Given the description of an element on the screen output the (x, y) to click on. 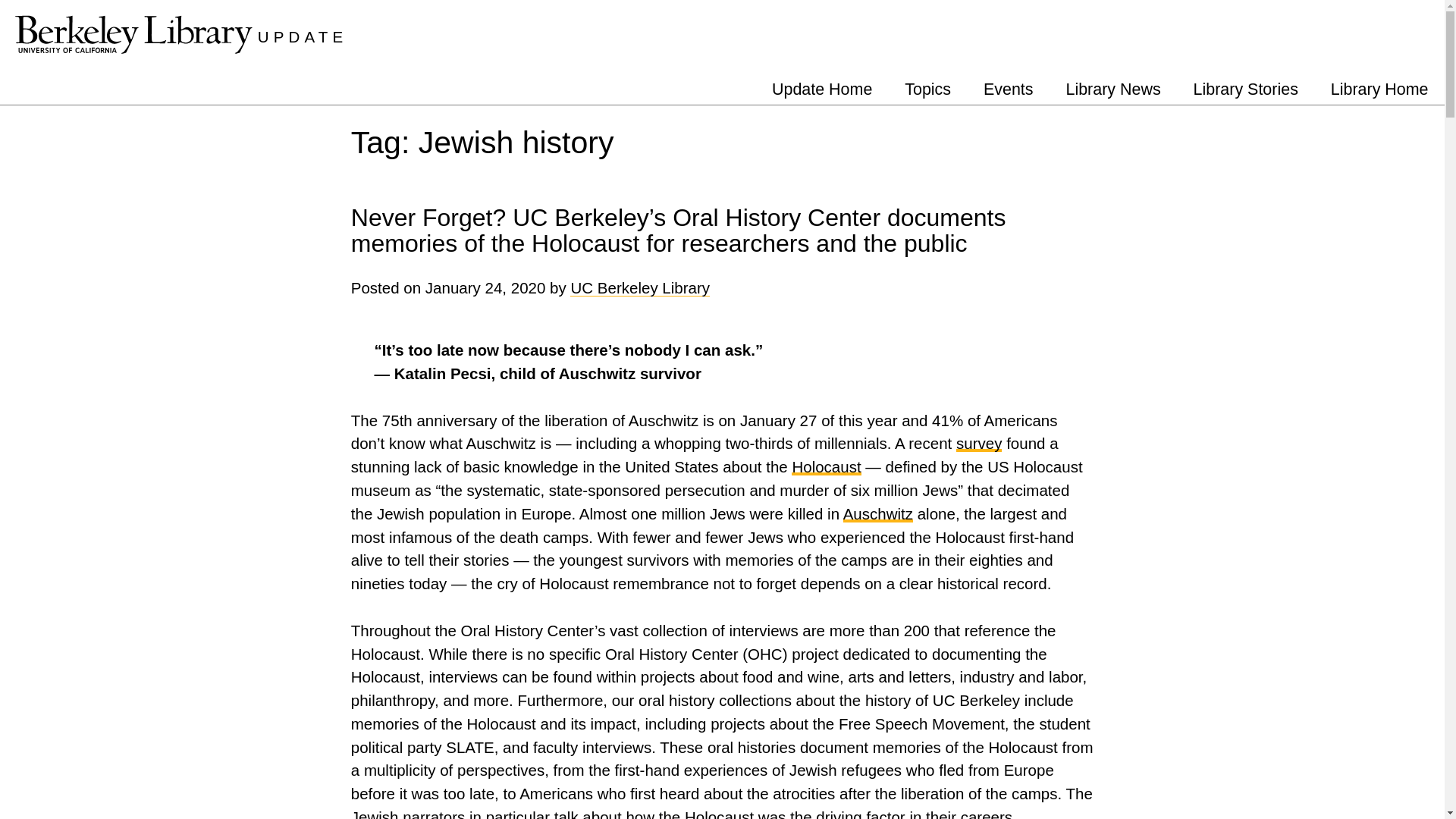
Holocaust (826, 466)
UC Berkeley Library (640, 287)
Library Stories (1245, 88)
Library Home (1378, 88)
Update Home (822, 88)
UPDATE (302, 36)
Library News (1112, 88)
Topics (927, 88)
Show and hide search (1432, 29)
Auschwitz (877, 513)
